Given the description of an element on the screen output the (x, y) to click on. 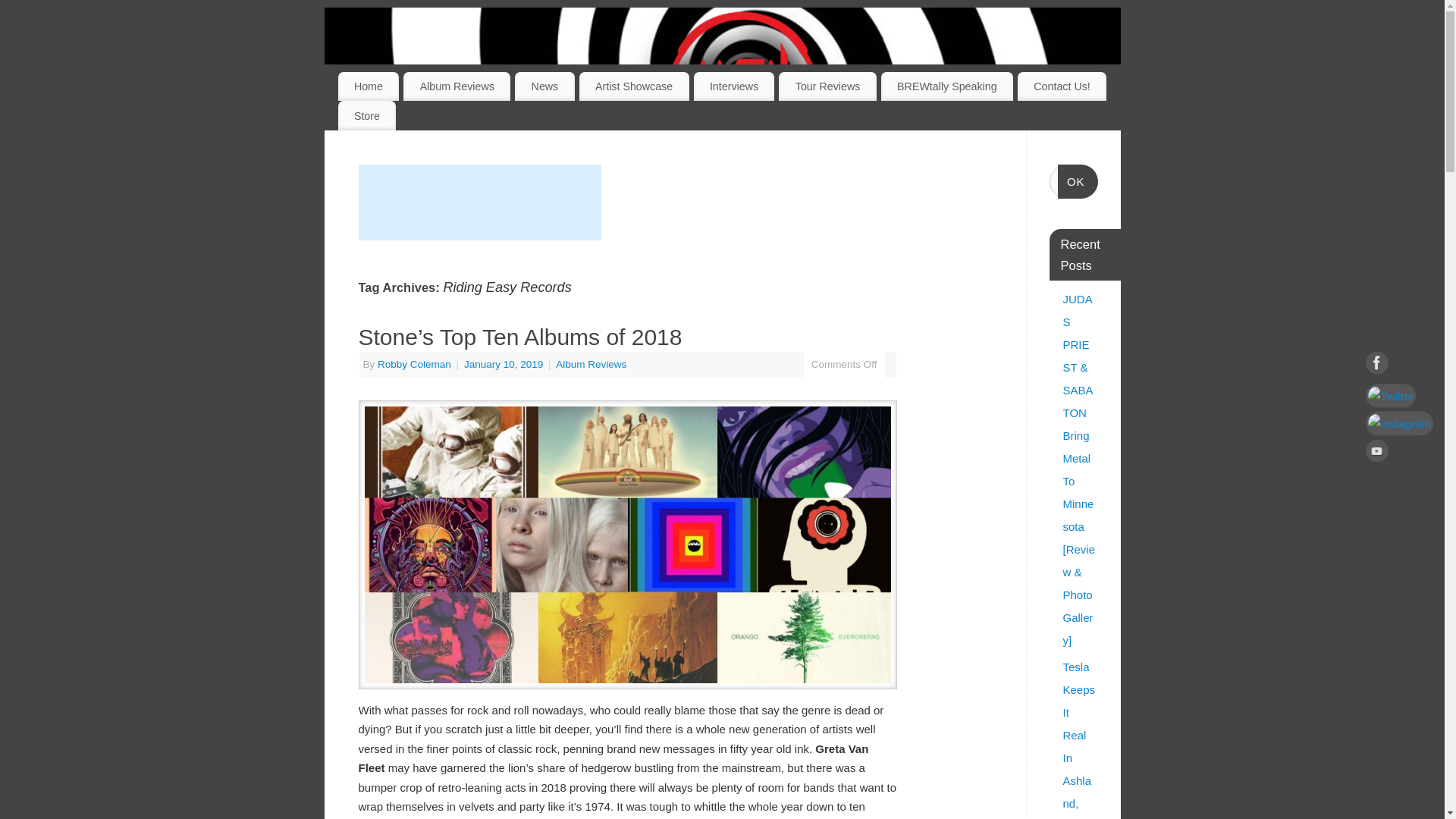
View all posts by Robby Coleman (414, 364)
10:06 am (505, 364)
News (544, 86)
Tour Reviews (827, 86)
January 10, 2019 (505, 364)
Interviews (734, 86)
Contact Us! (1061, 86)
Home (367, 86)
Store (366, 114)
Album Reviews (457, 86)
BREWtally Speaking (946, 86)
Robby Coleman (414, 364)
Metal Nexus (741, 82)
Album Reviews (591, 364)
Artist Showcase (633, 86)
